Given the description of an element on the screen output the (x, y) to click on. 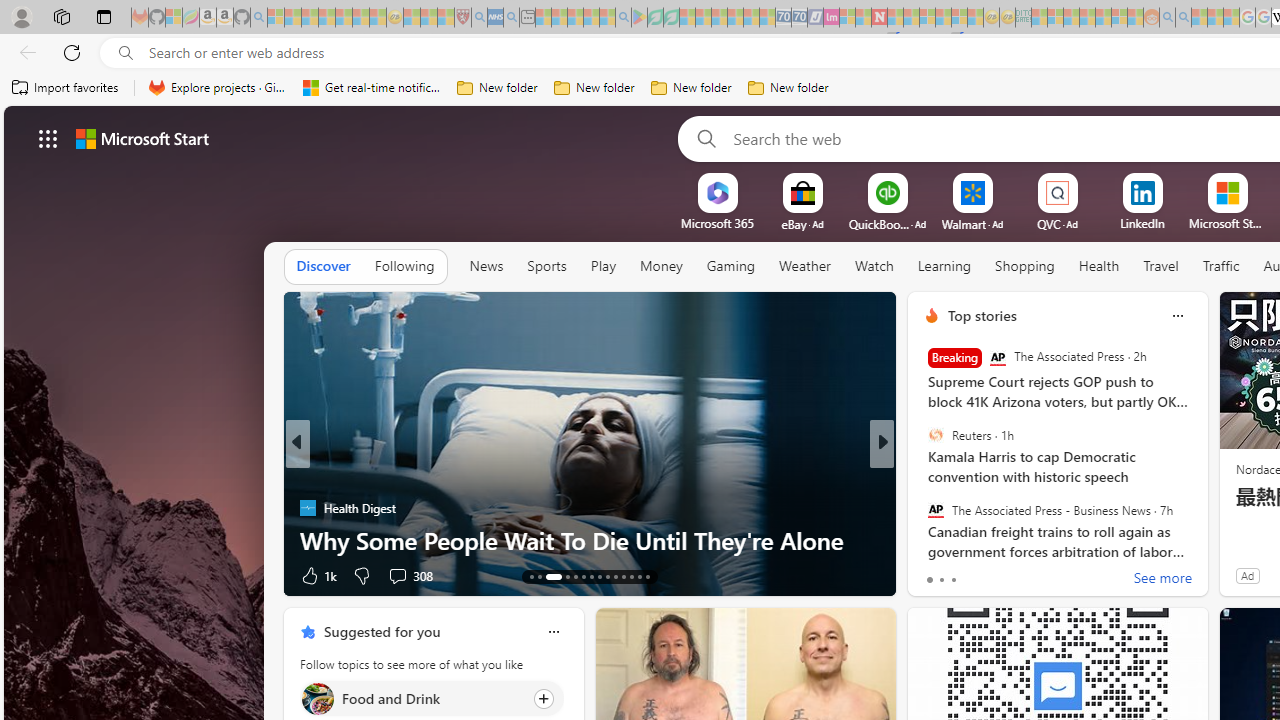
View comments 81 Comment (1019, 575)
AutomationID: tab-20 (599, 576)
The Weather Channel - MSN - Sleeping (309, 17)
View comments 31 Comment (1019, 575)
Suggested for you (381, 631)
Learning (944, 267)
View comments 3 Comment (1019, 574)
tab-1 (941, 579)
View comments 308 Comment (409, 574)
Terms of Use Agreement - Sleeping (655, 17)
